Given the description of an element on the screen output the (x, y) to click on. 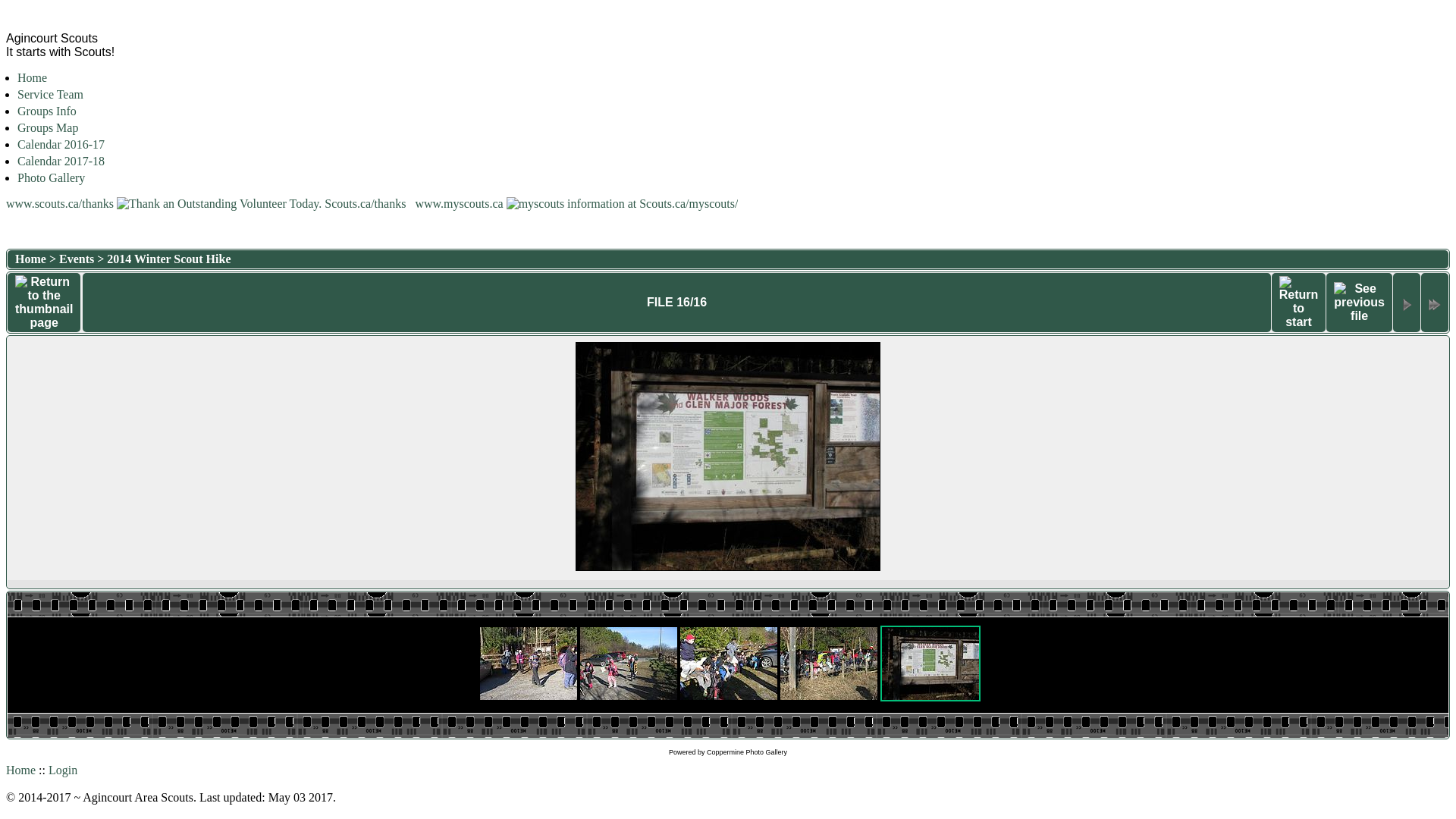
www.scouts.ca/thanks Element type: text (207, 203)
Groups Map Element type: text (47, 127)
Events Element type: text (76, 258)
2014 Winter Scout Hike Element type: text (168, 258)
Return to the thumbnail page Element type: hover (43, 302)
Return to start Element type: hover (1298, 302)
Calendar 2016-17 Element type: text (60, 144)
See previous file Element type: hover (1359, 302)
Login Element type: text (62, 769)
Groups Info Element type: text (46, 110)
Home Element type: text (32, 77)
www.myscouts.ca Element type: text (575, 203)
Coppermine Photo Gallery Element type: text (746, 752)
Home Element type: text (30, 258)
Calendar 2017-18 Element type: text (60, 160)
Photo Gallery Element type: text (50, 177)
Click to view full size image
==============
IMG_1926.jpg Element type: hover (727, 456)
Service Team Element type: text (50, 93)
Home Element type: text (20, 769)
